Given the description of an element on the screen output the (x, y) to click on. 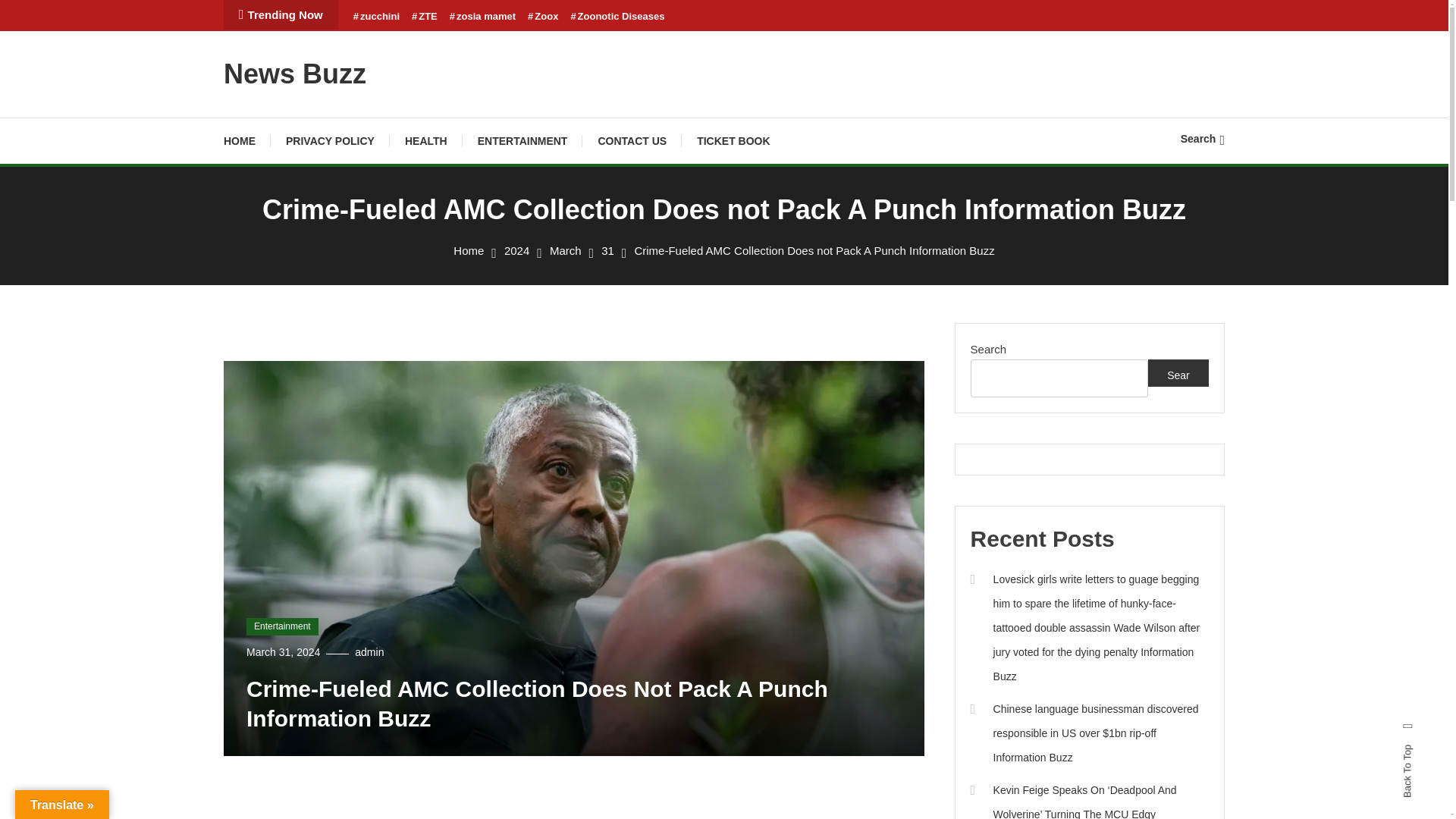
2024 (516, 250)
News Buzz (295, 73)
CONTACT US (631, 140)
Home (467, 250)
zosia mamet (482, 16)
admin (369, 652)
Zoonotic Diseases (616, 16)
Search (1202, 138)
HEALTH (426, 140)
HOME (247, 140)
March 31, 2024 (283, 652)
Zoox (542, 16)
Entertainment (282, 627)
31 (607, 250)
